Given the description of an element on the screen output the (x, y) to click on. 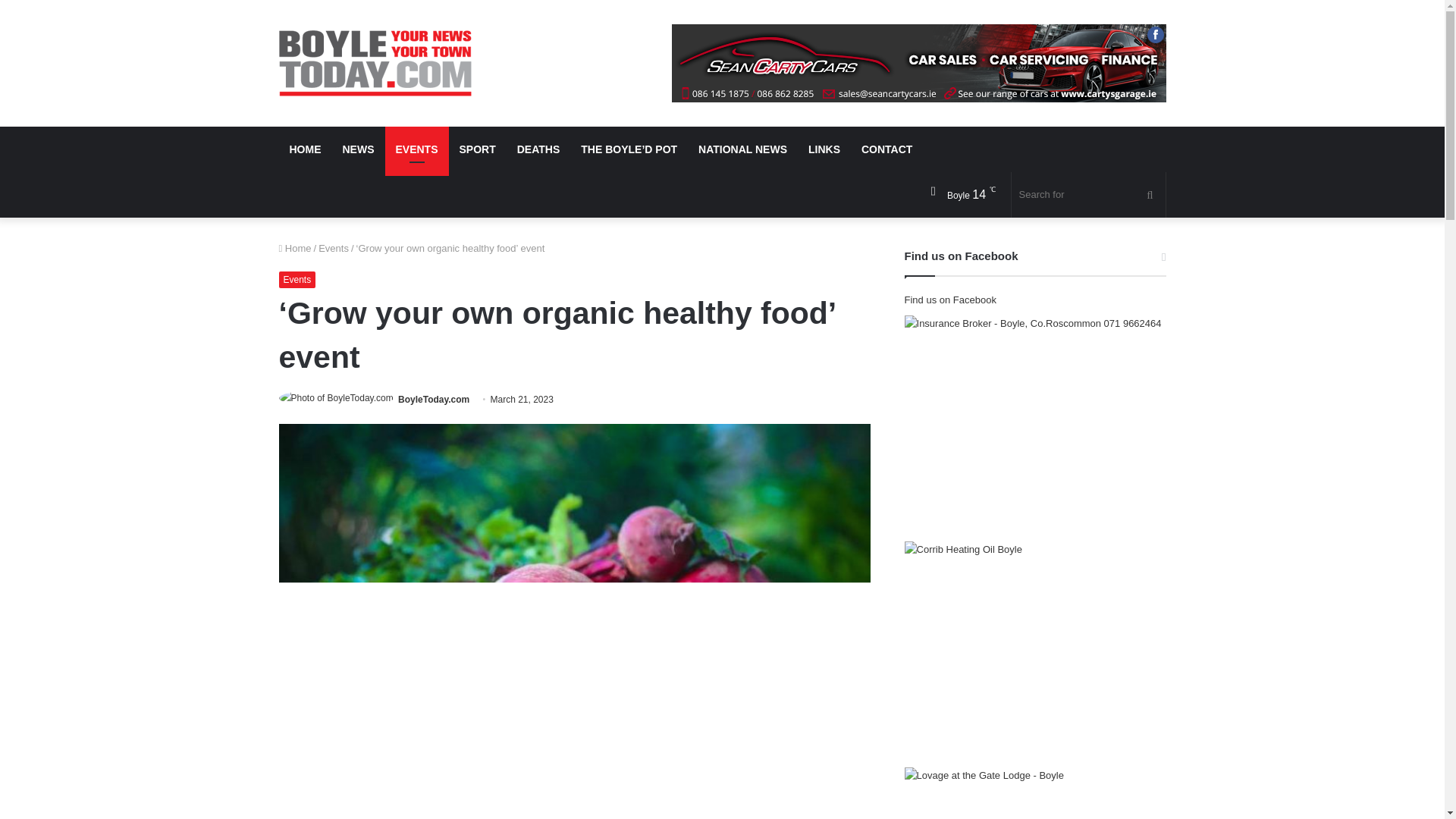
Events (333, 247)
Events (297, 279)
Home (295, 247)
CONTACT (886, 148)
EVENTS (416, 148)
BoyleToday.com (432, 398)
LINKS (823, 148)
NATIONAL NEWS (742, 148)
Clear Sky (957, 194)
Search for (1088, 194)
